Given the description of an element on the screen output the (x, y) to click on. 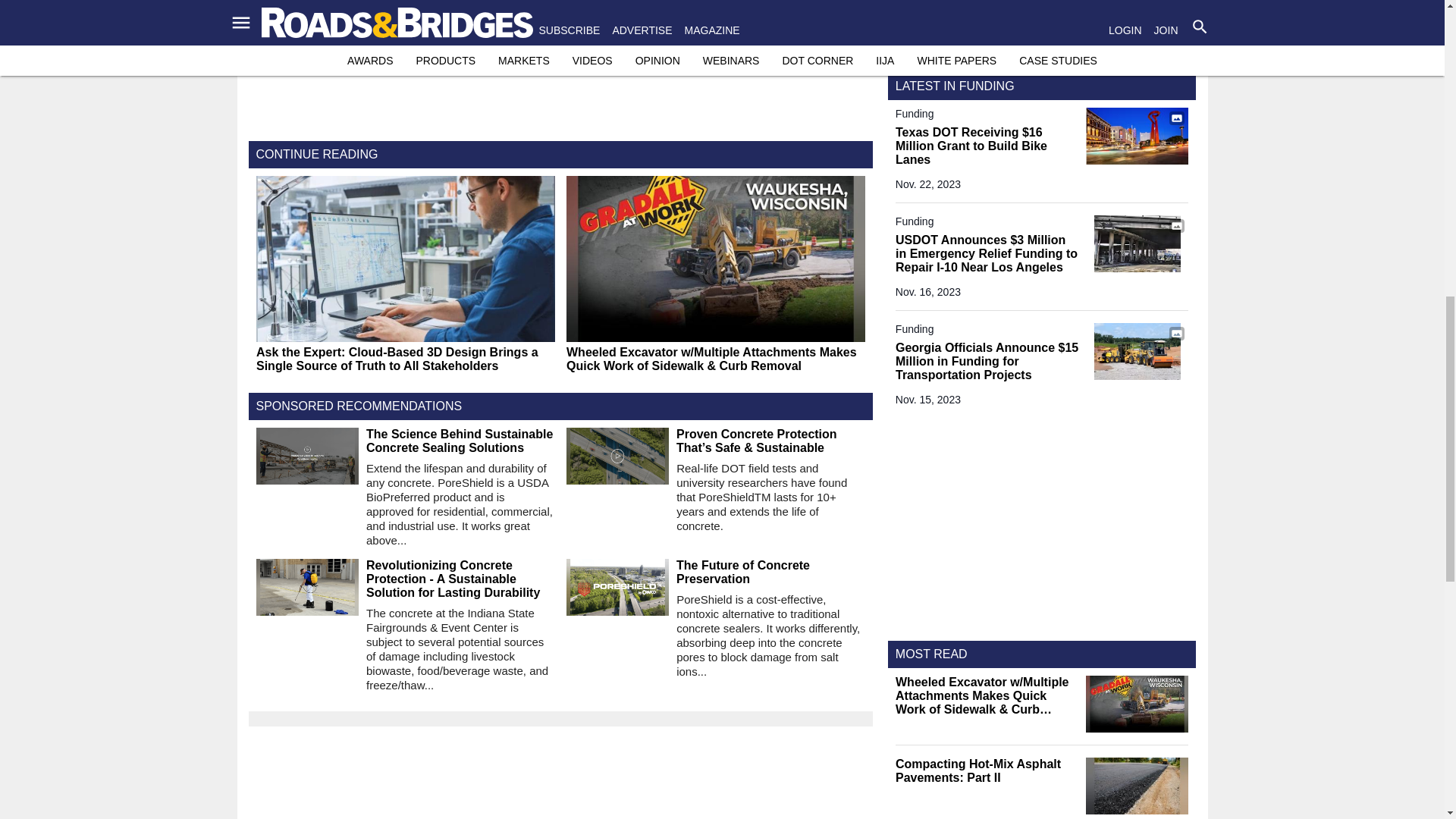
Dreamstime Xxl 95514739 (1137, 351)
